Given the description of an element on the screen output the (x, y) to click on. 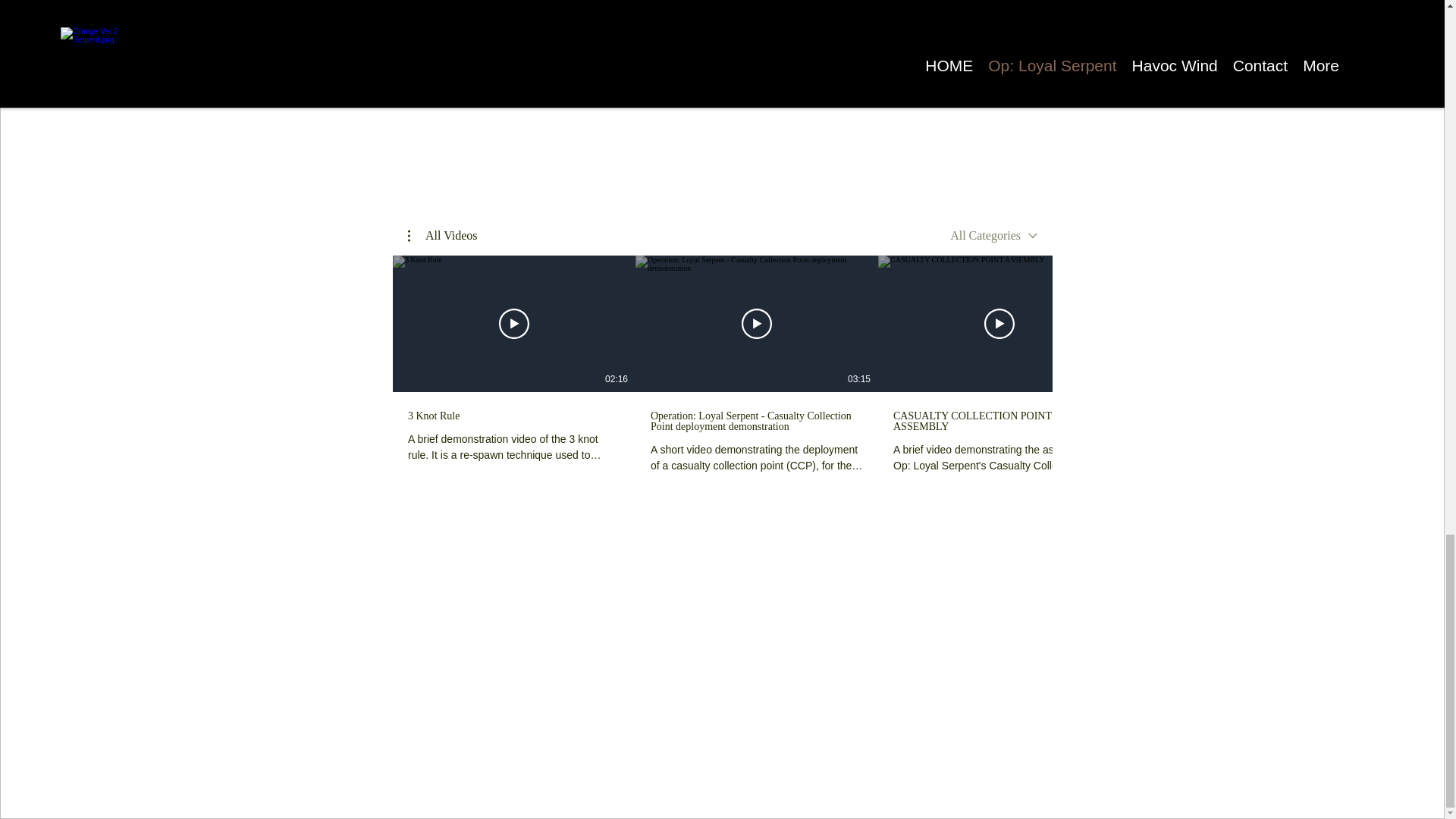
3 Knot Rule (513, 416)
CASUALTY COLLECTION POINT ASSEMBLY (999, 422)
Merrill Dunes Waiver.pdf (798, 7)
